Given the description of an element on the screen output the (x, y) to click on. 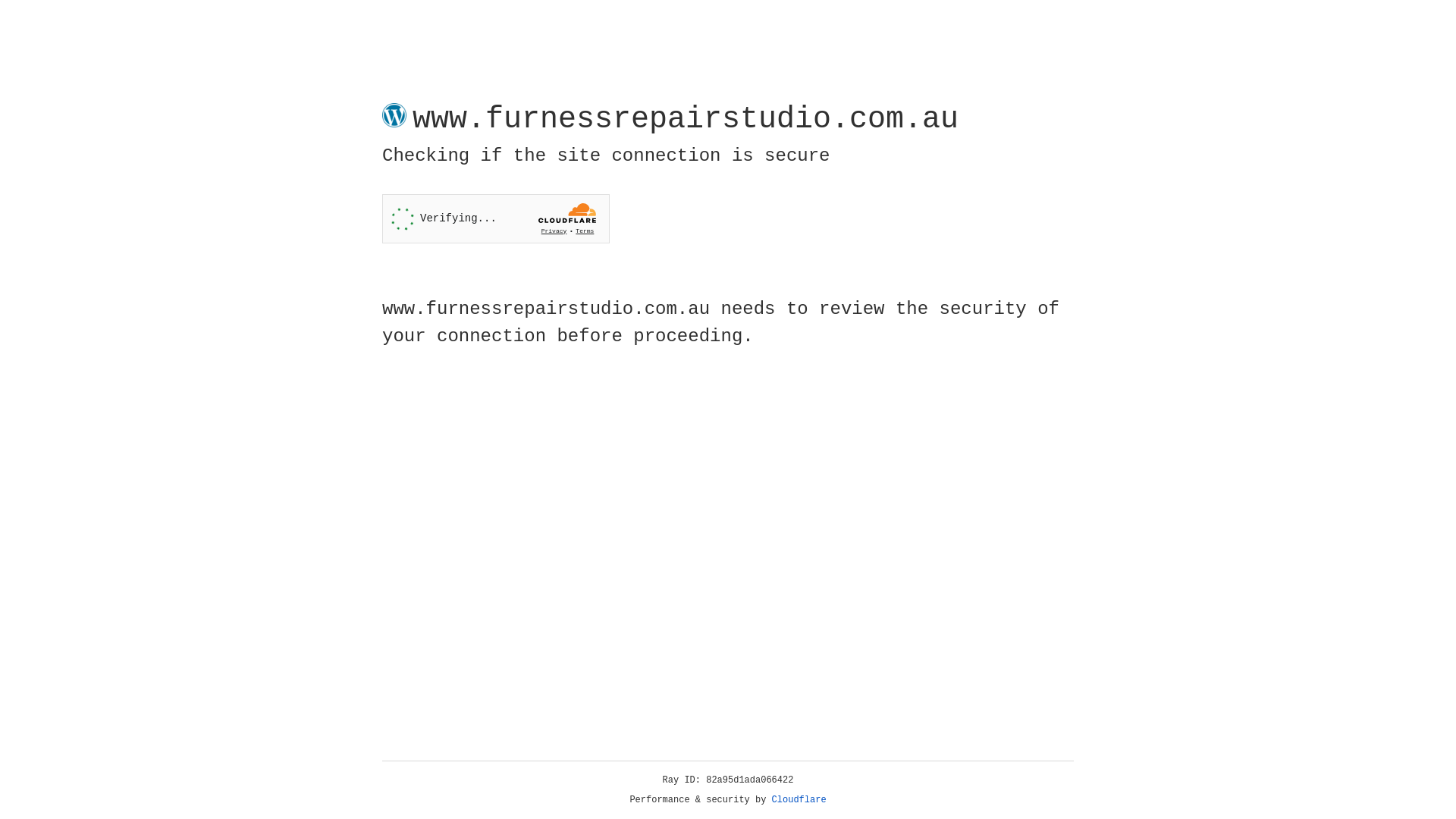
Widget containing a Cloudflare security challenge Element type: hover (495, 218)
Cloudflare Element type: text (798, 799)
